Given the description of an element on the screen output the (x, y) to click on. 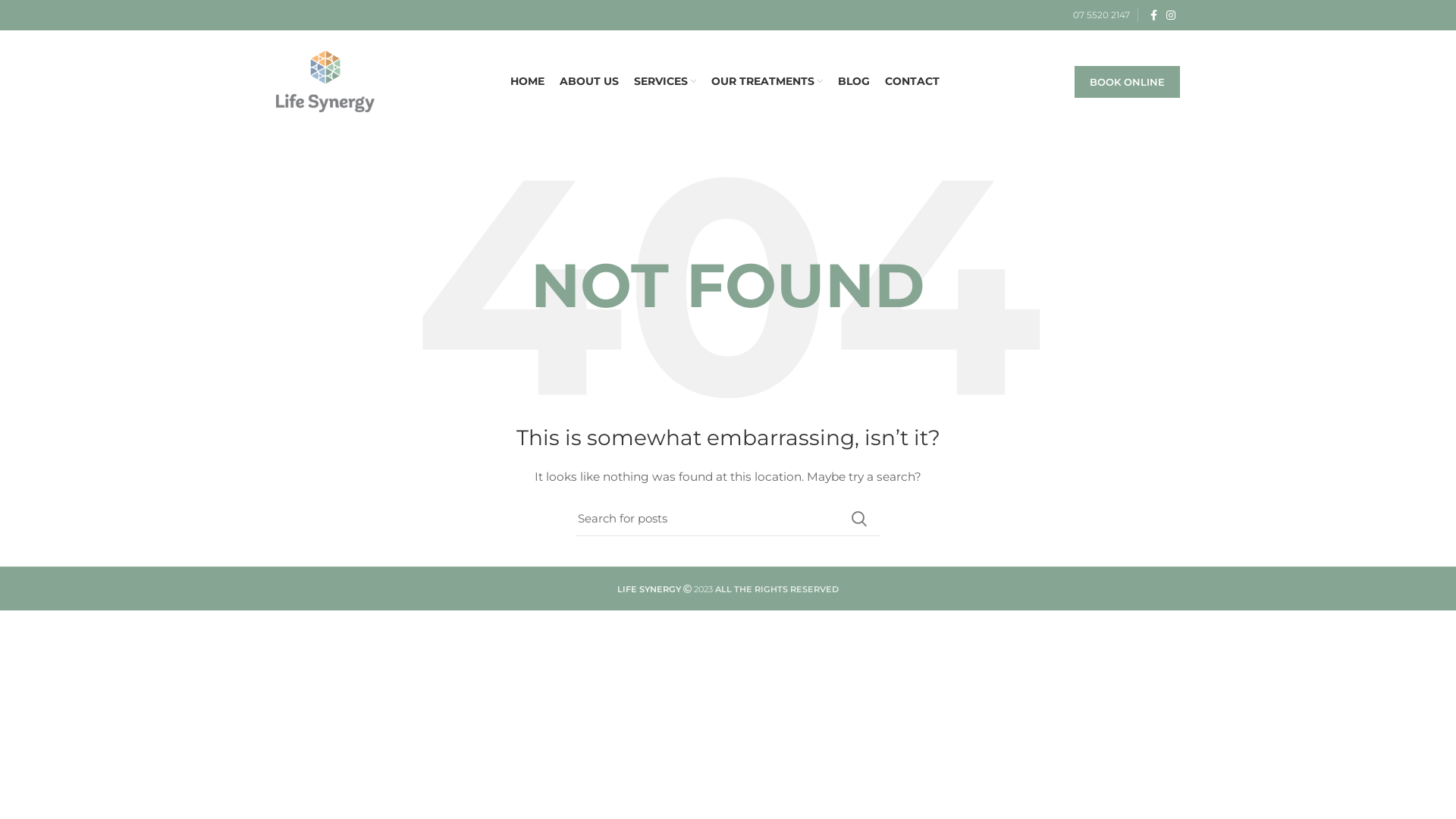
CONTACT Element type: text (911, 81)
BOOK ONLINE Element type: text (1126, 81)
LIFE SYNERGY Element type: text (648, 588)
BLOG Element type: text (852, 81)
Search for posts Element type: hover (727, 518)
ABOUT US Element type: text (589, 81)
HOME Element type: text (526, 81)
OUR TREATMENTS Element type: text (766, 81)
SEARCH Element type: text (859, 518)
SERVICES Element type: text (664, 81)
